Given the description of an element on the screen output the (x, y) to click on. 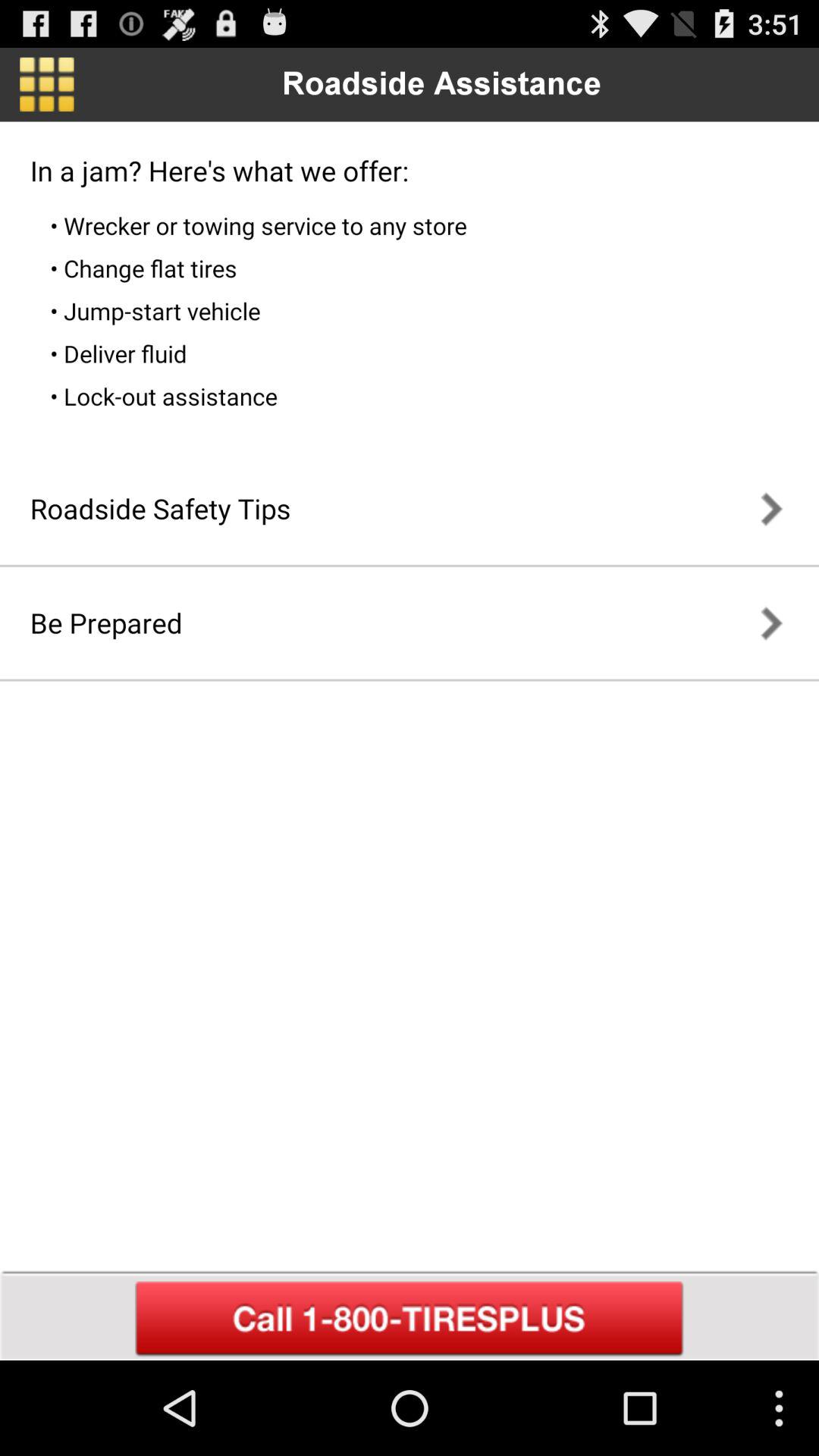
open item next to the roadside assistance item (46, 84)
